Given the description of an element on the screen output the (x, y) to click on. 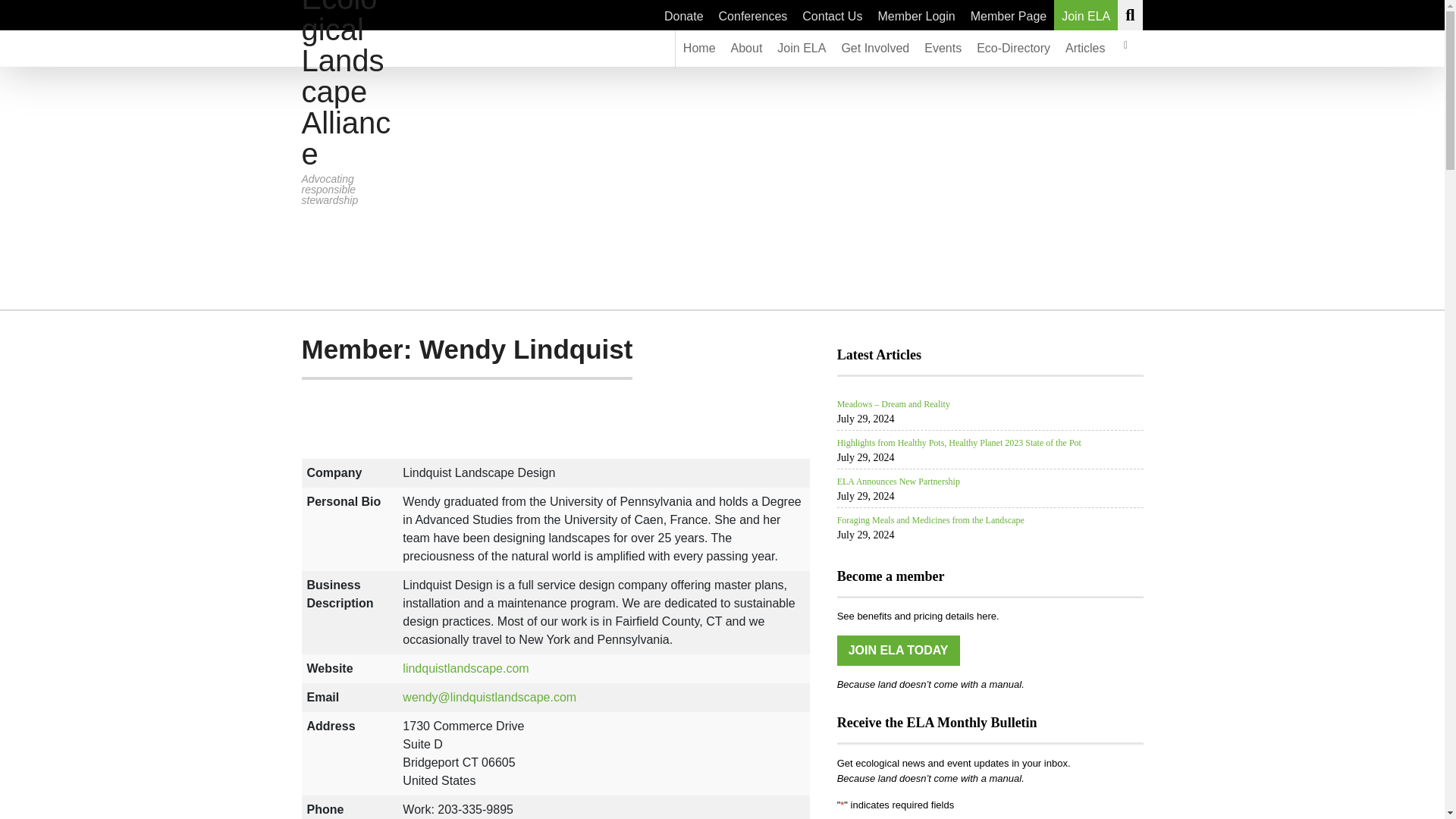
Events (943, 48)
Member Page (1008, 15)
Conferences (752, 15)
Join ELA (801, 48)
Member Login (915, 15)
Donate (683, 15)
View your shopping cart (1124, 48)
Get Involved (874, 48)
Home (699, 48)
Join ELA (1086, 15)
Contact Us (831, 15)
About (746, 48)
